Given the description of an element on the screen output the (x, y) to click on. 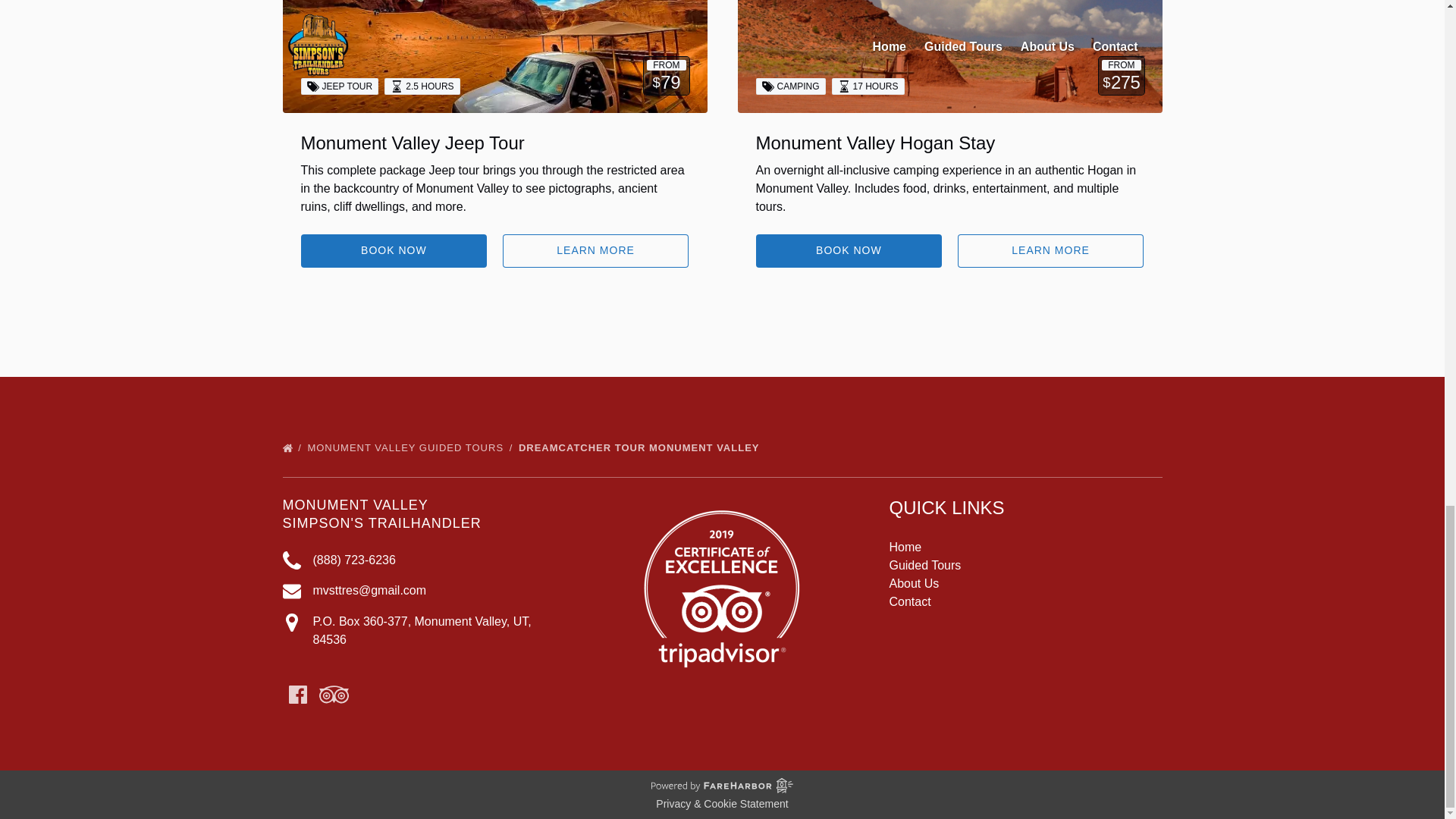
TA COE 2019 White (721, 587)
Home (904, 546)
MONUMENT VALLEY GUIDED TOURS (411, 447)
Monument Valley Jeep Tour (411, 142)
LEARN MORE (1051, 250)
Map Marker (290, 622)
Envelope (290, 591)
Visit our Facebook (296, 694)
BOOK NOW (848, 250)
P.O. Box 360-377, Monument Valley, UT, 84536 (422, 630)
Guided Tours (924, 564)
DREAMCATCHER TOUR MONUMENT VALLEY (642, 447)
LEARN MORE (595, 250)
Monument Valley Hogan Stay (874, 142)
Contact (909, 601)
